Given the description of an element on the screen output the (x, y) to click on. 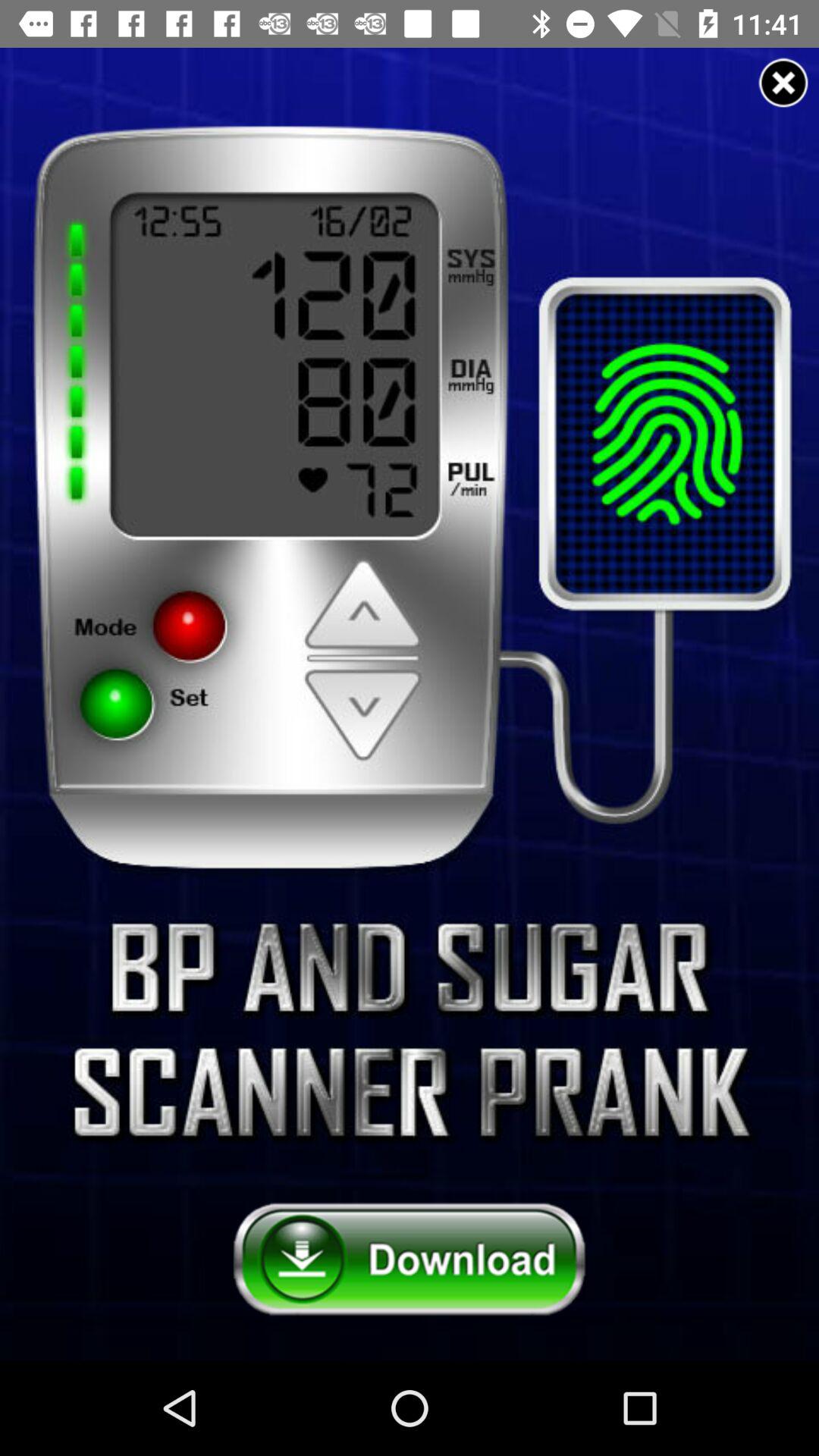
turn off the icon at the top right corner (783, 83)
